Given the description of an element on the screen output the (x, y) to click on. 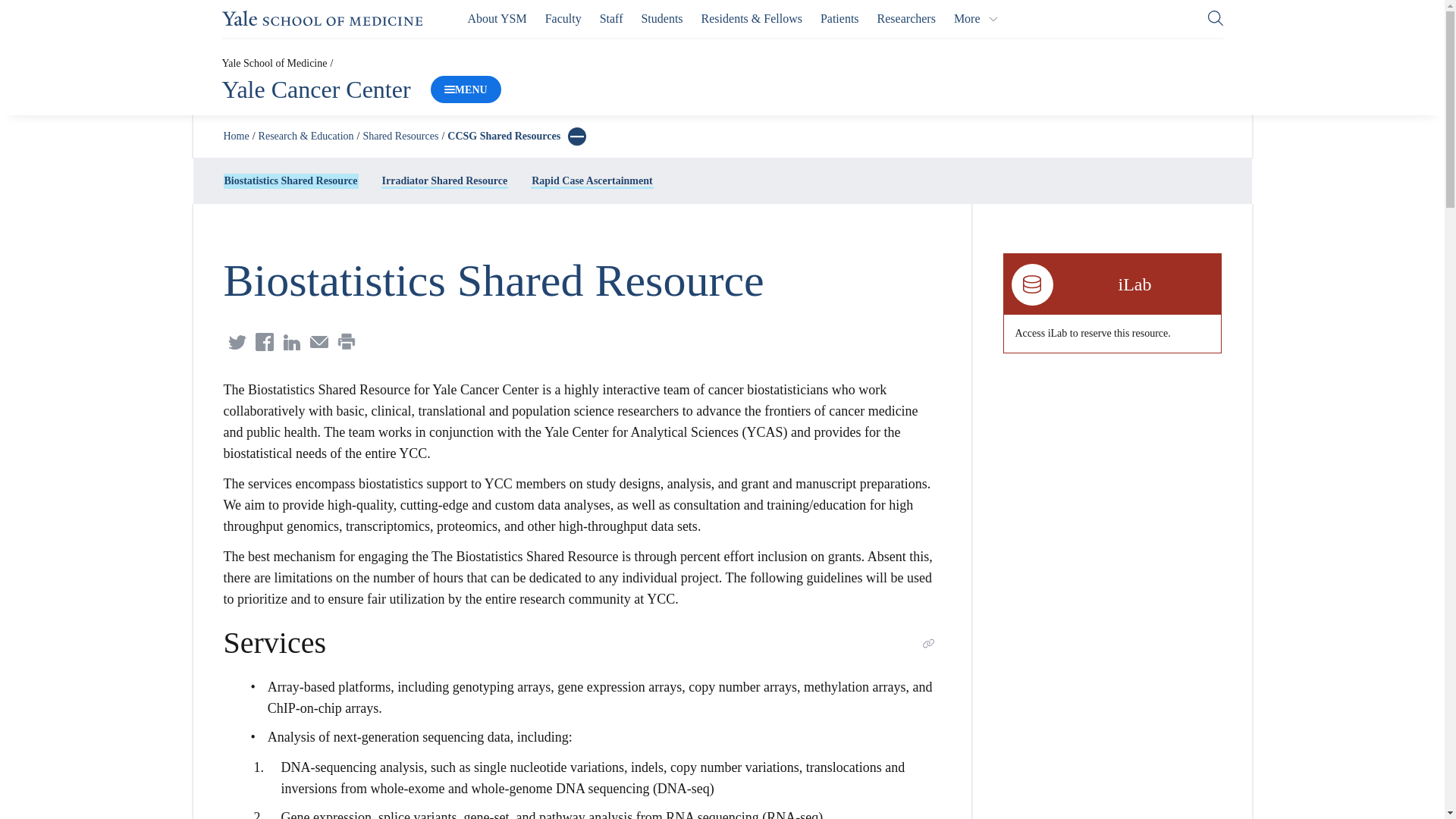
Staff (611, 18)
Faculty (562, 18)
Students (661, 18)
Yale School of Medicine (273, 62)
MENU (465, 89)
Researchers (906, 18)
More (975, 18)
Yale School of Medicine (321, 17)
Yale Cancer Center (315, 89)
Yale School of Medicine (321, 18)
About YSM (497, 18)
Patients (840, 18)
